Given the description of an element on the screen output the (x, y) to click on. 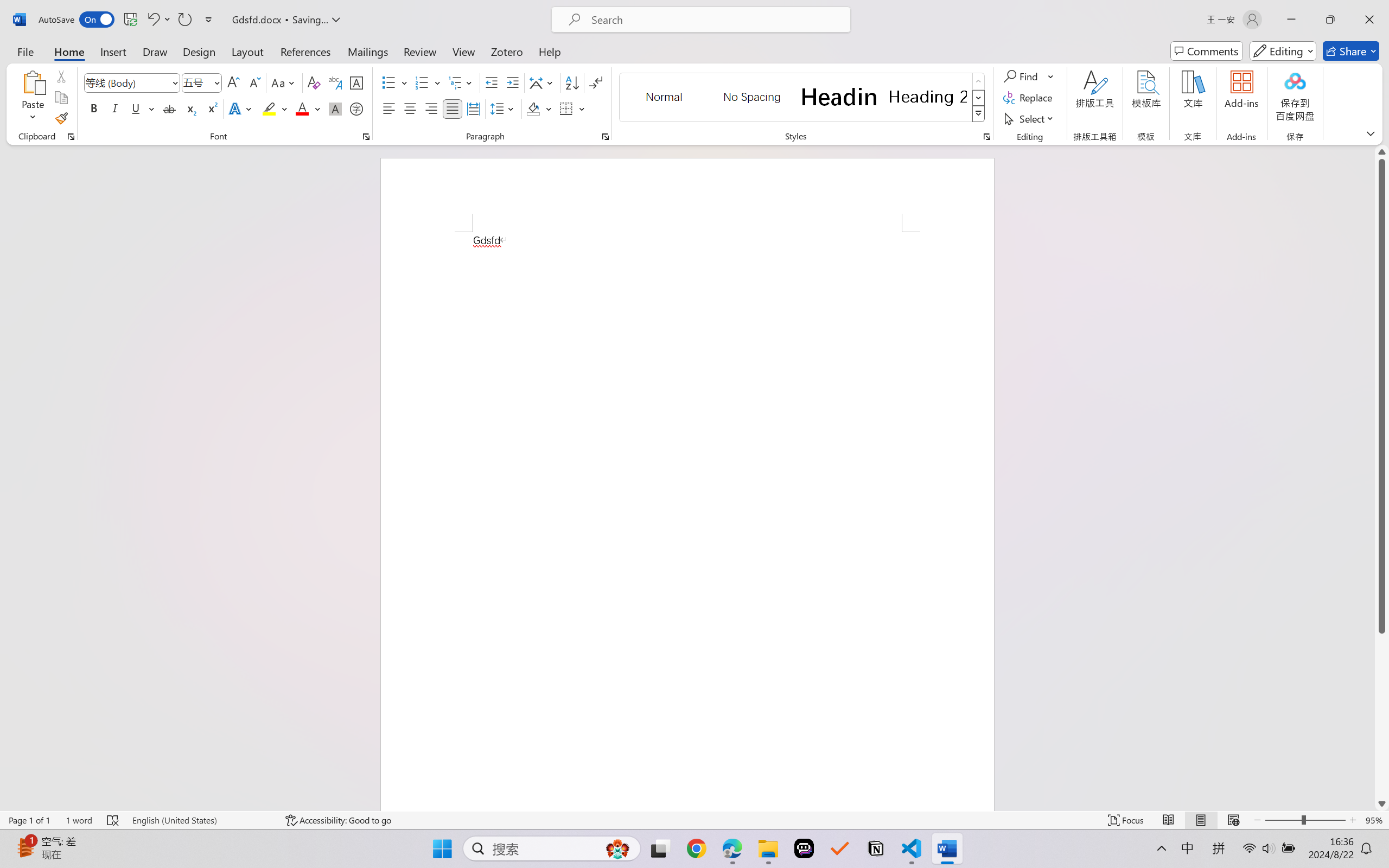
Line down (1382, 803)
Heading 2 (927, 96)
Shading RGB(0, 0, 0) (533, 108)
Grow Font (233, 82)
Class: MsoCommandBar (694, 819)
Font Color Red (302, 108)
Cut (60, 75)
Enclose Characters... (356, 108)
